Given the description of an element on the screen output the (x, y) to click on. 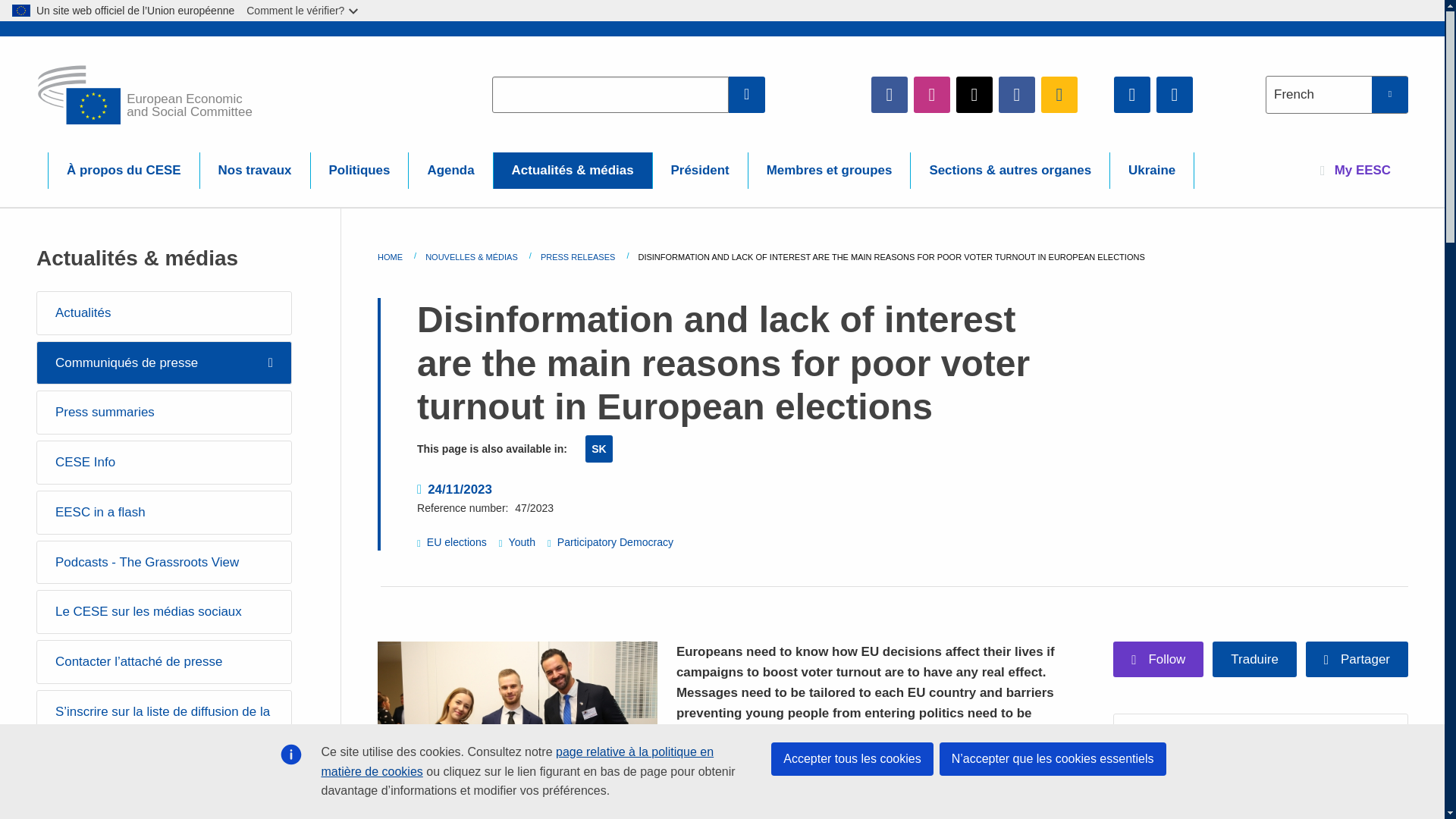
Search EESC Website (747, 94)
My EESC (1355, 170)
Accepter tous les cookies (852, 758)
